Given the description of an element on the screen output the (x, y) to click on. 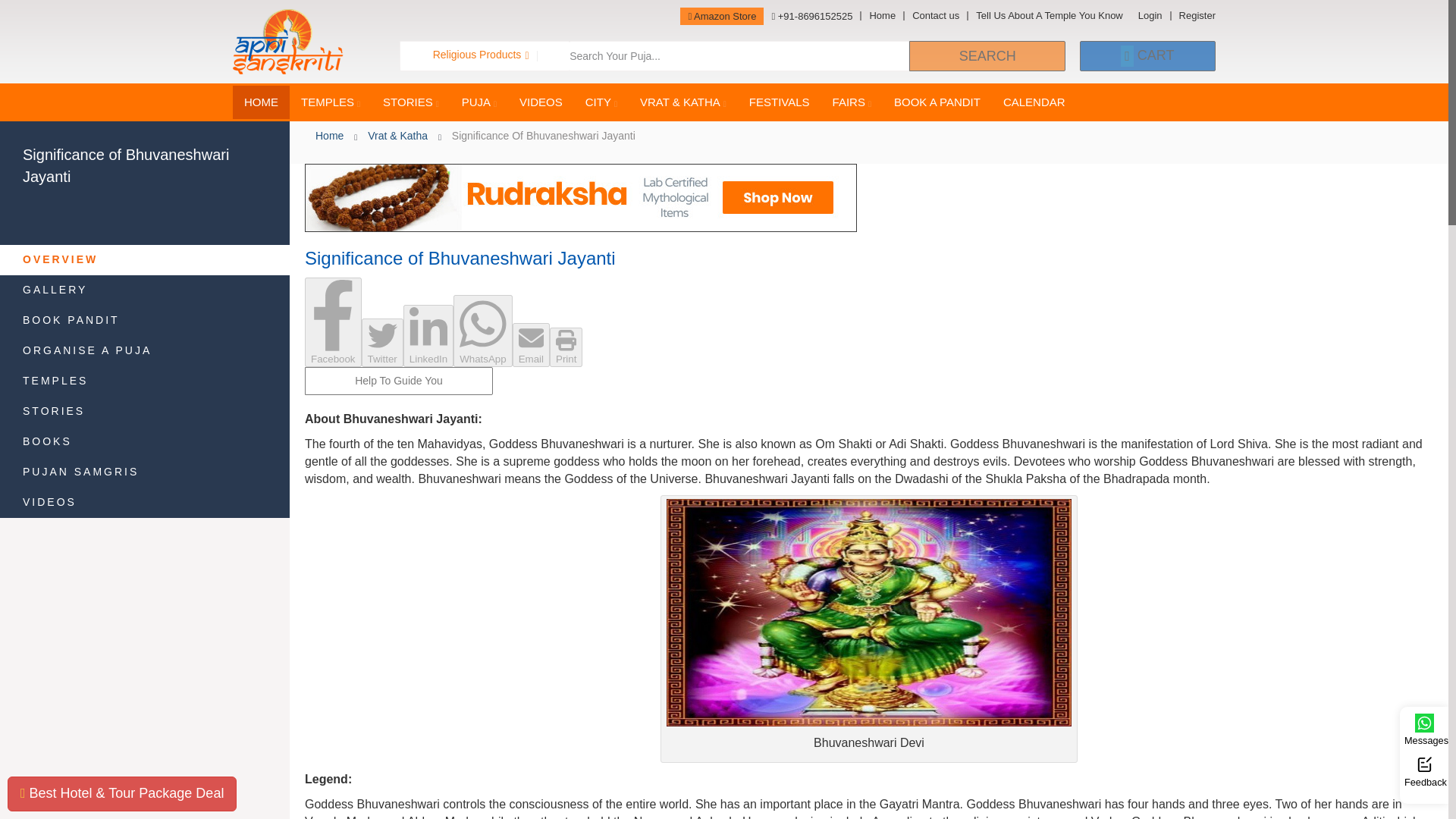
Home (881, 15)
Contact us (934, 15)
Login (1150, 15)
STORIES (410, 101)
Amazon Store (720, 16)
SEARCH (986, 55)
HOME (260, 101)
PUJA (478, 101)
Tell Us About A Temple You Know (1047, 15)
TEMPLES (330, 101)
CART (1147, 55)
Book Now (121, 793)
Register (1192, 15)
